Given the description of an element on the screen output the (x, y) to click on. 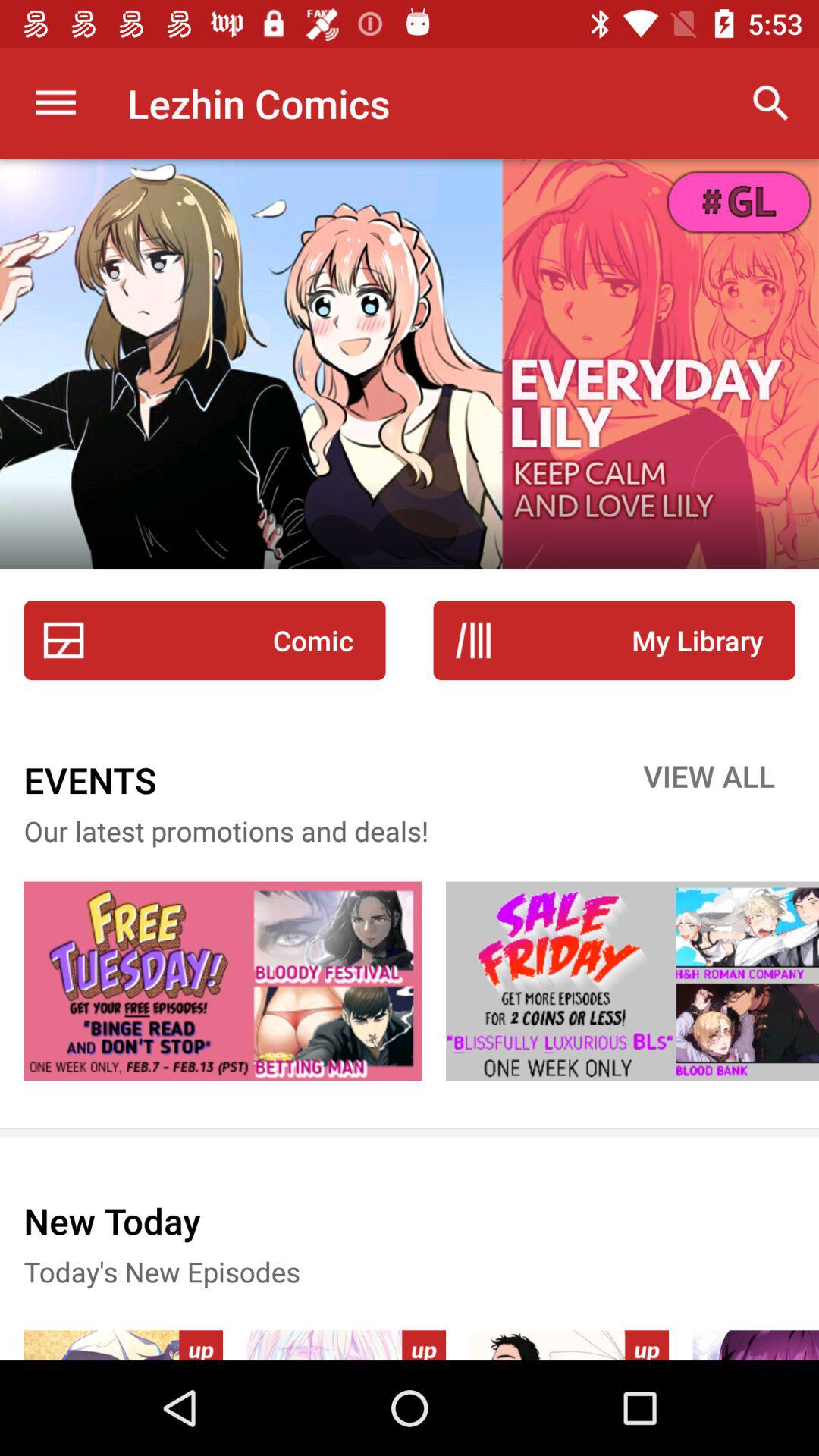
open image related link (222, 980)
